Given the description of an element on the screen output the (x, y) to click on. 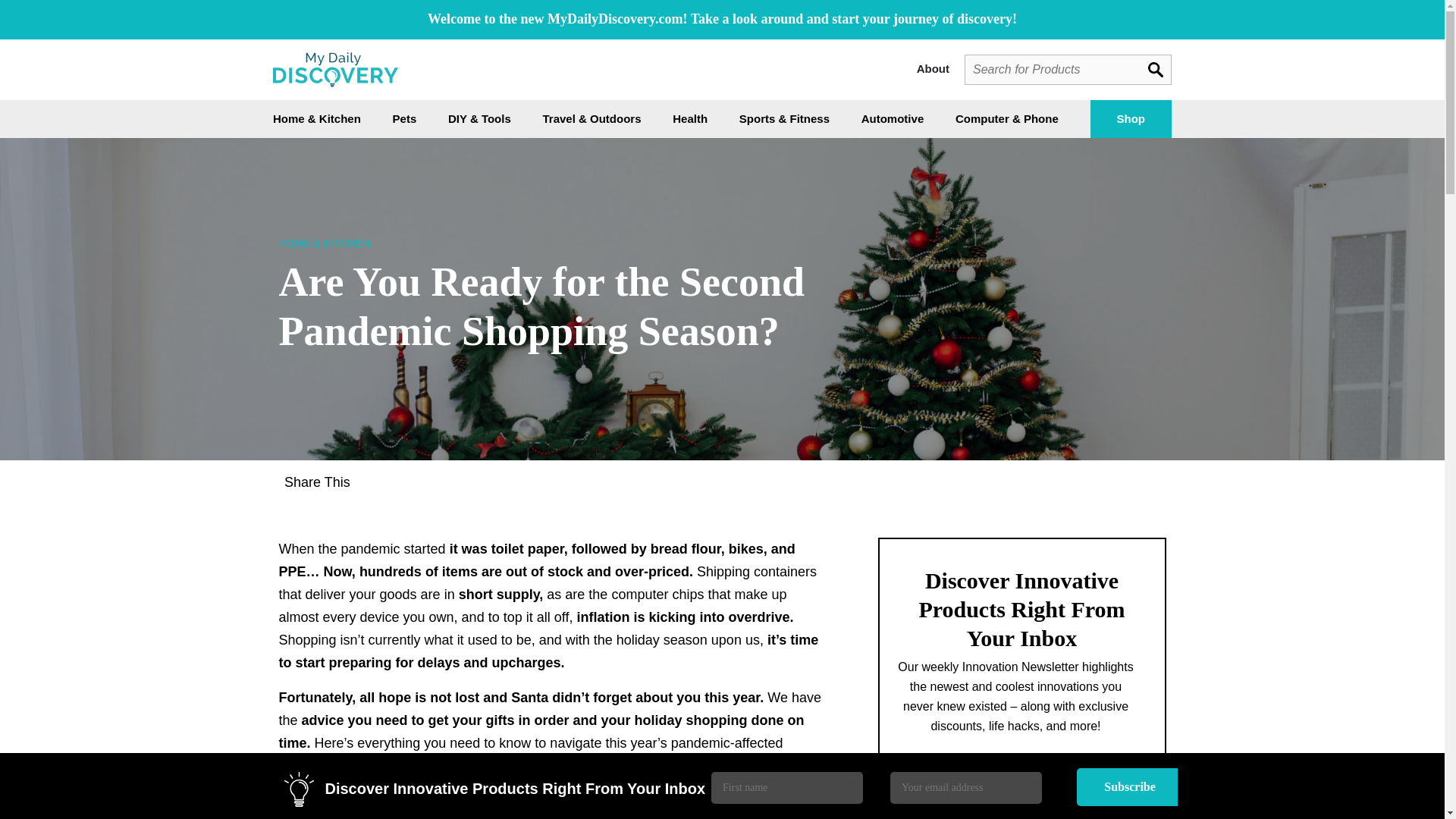
Pets (404, 118)
Shop (1131, 118)
Health (689, 118)
About (940, 68)
Subscribe (1129, 786)
Automotive (892, 118)
